Given the description of an element on the screen output the (x, y) to click on. 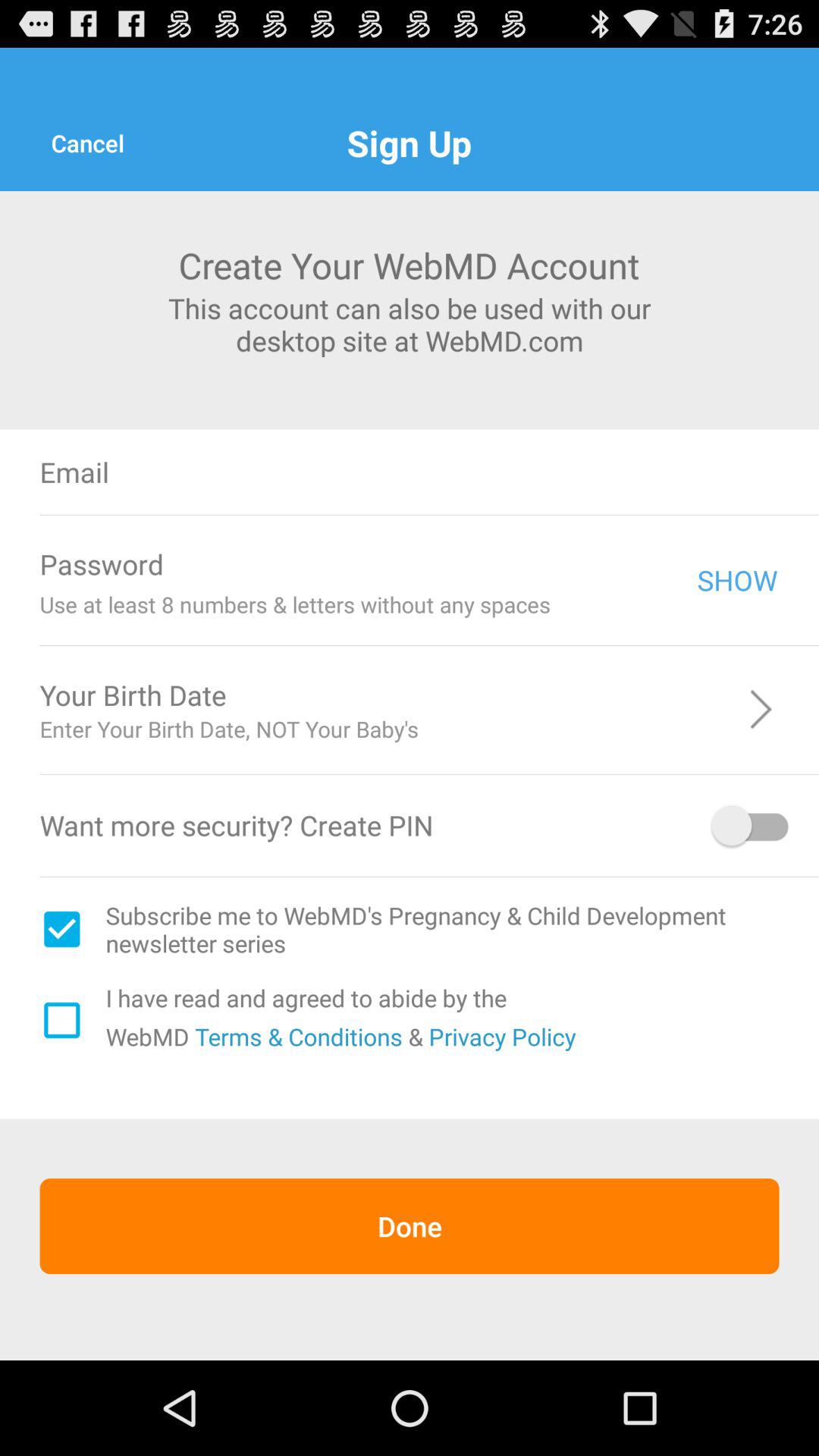
email box (507, 471)
